Given the description of an element on the screen output the (x, y) to click on. 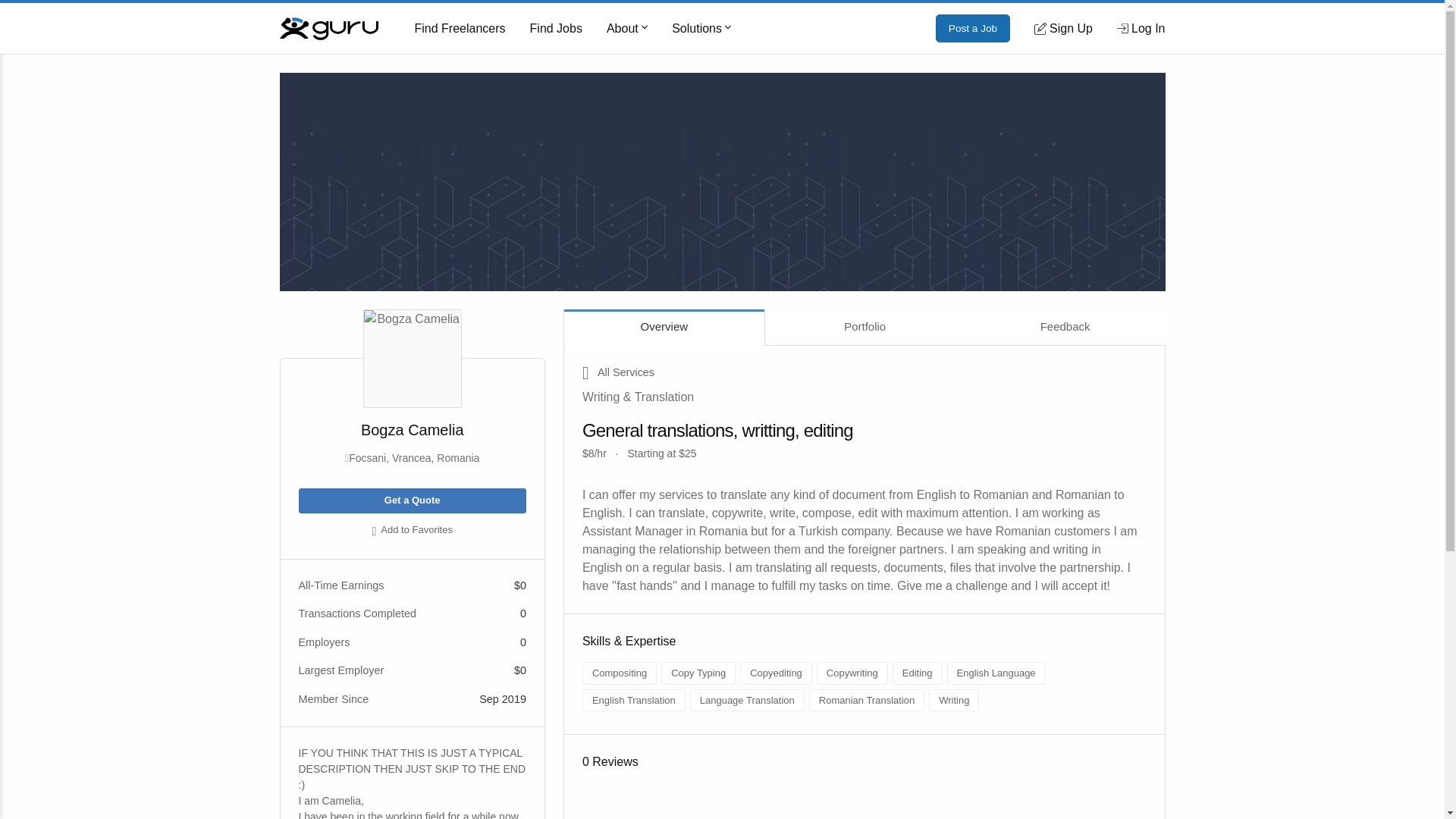
Post a Job (973, 28)
Find Jobs (555, 28)
Log In (1140, 28)
Guru (328, 27)
Find a Job (555, 28)
Find a Freelancer (459, 28)
Add to Favorites (411, 531)
Post a Job (973, 28)
Get a Quote (411, 500)
Overview (664, 326)
Sign Up (1063, 28)
Find Freelancers (459, 28)
